Given the description of an element on the screen output the (x, y) to click on. 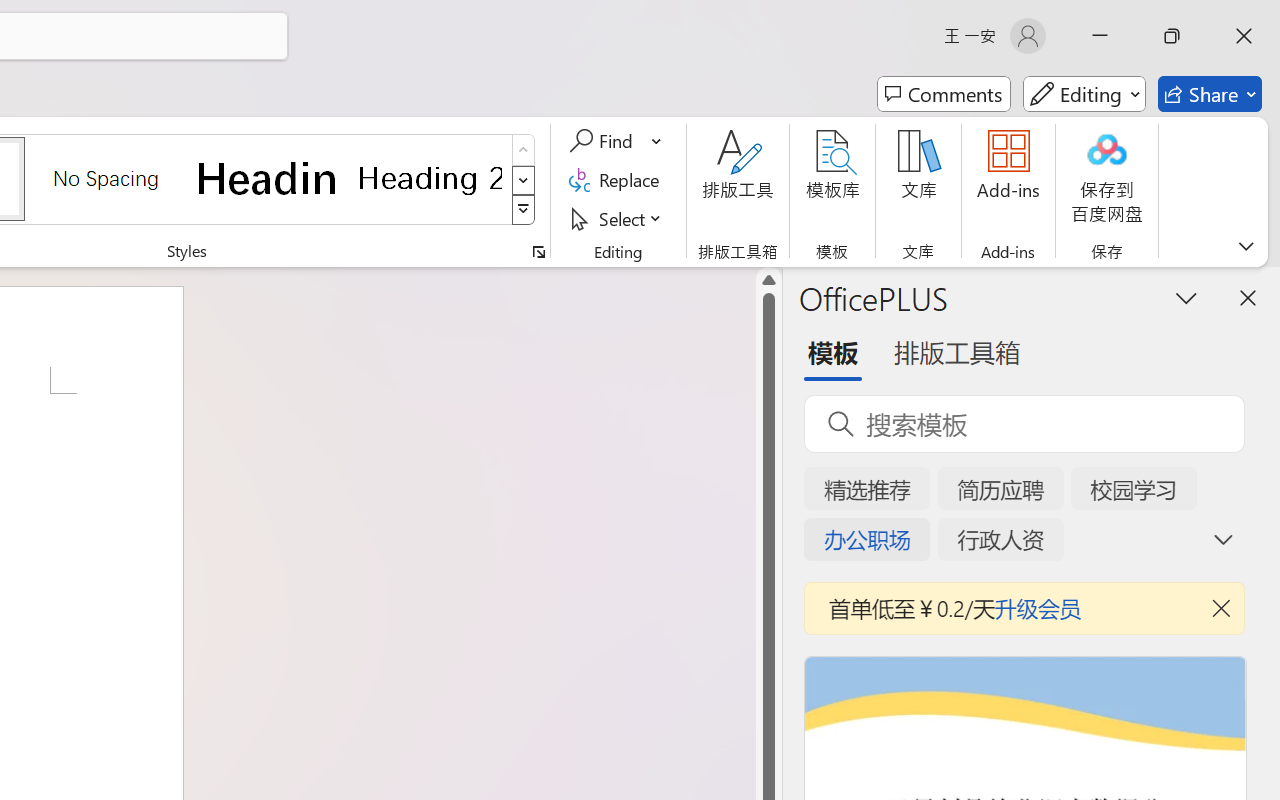
Styles... (538, 252)
More Options (657, 141)
Share (1210, 94)
Comments (943, 94)
Task Pane Options (1186, 297)
Replace... (617, 179)
